Given the description of an element on the screen output the (x, y) to click on. 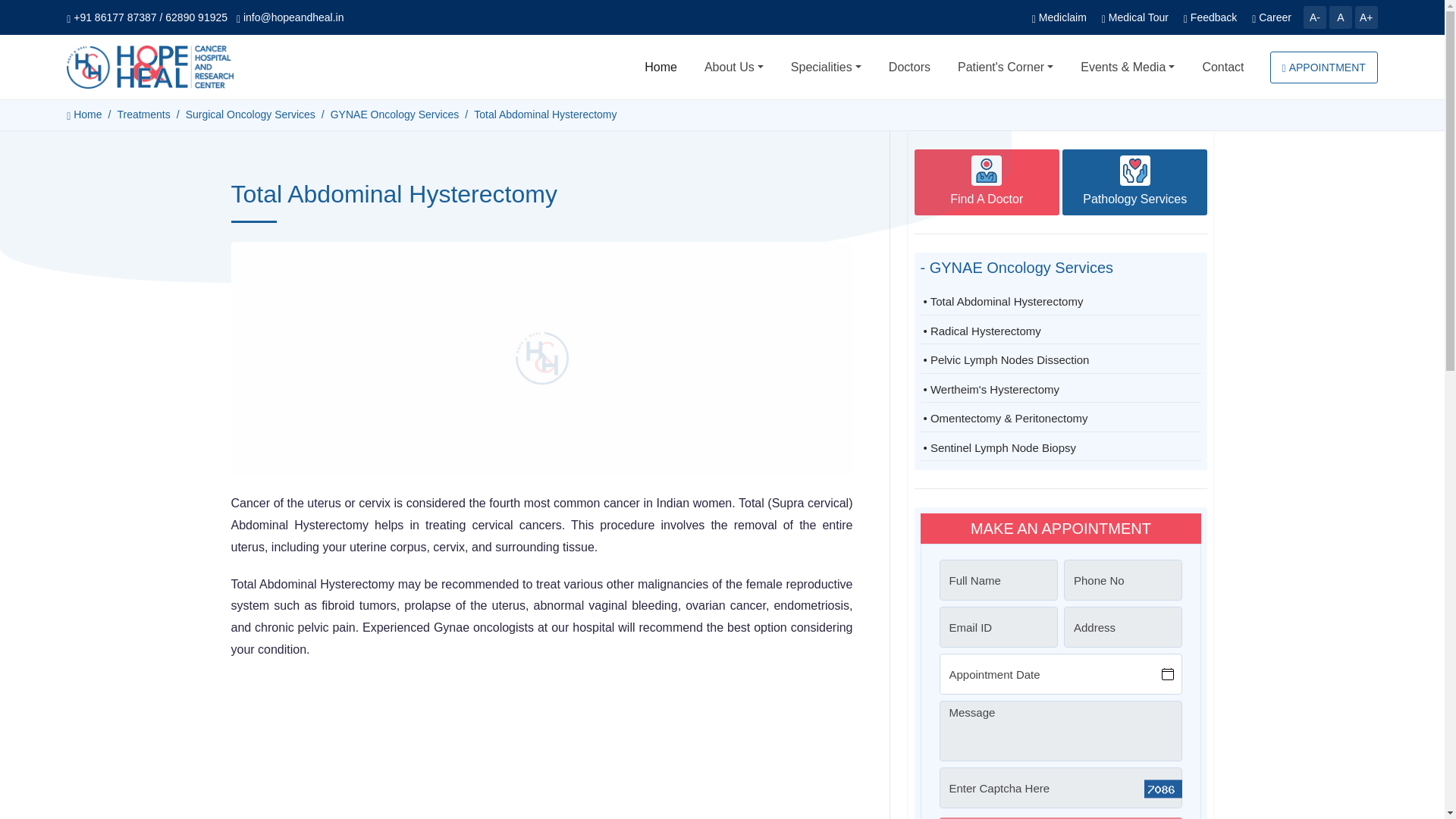
Career (1271, 17)
A- (1314, 16)
Feedback (1210, 17)
About Us (733, 67)
Home (660, 67)
Medical Tour (1135, 17)
Mediclaim (1059, 17)
A (1340, 16)
